Given the description of an element on the screen output the (x, y) to click on. 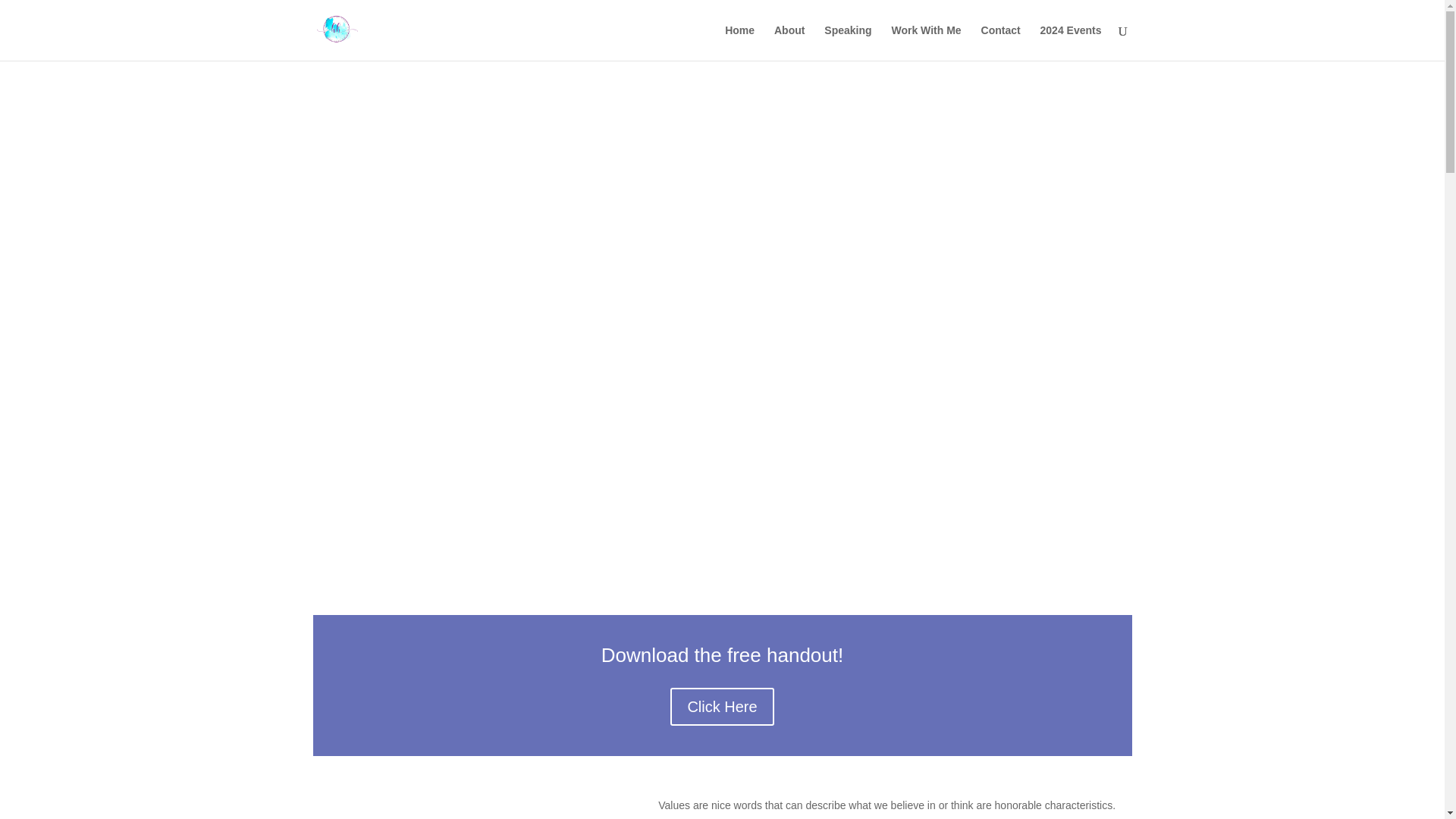
Contact (1000, 42)
Work With Me (925, 42)
2024 Events (1071, 42)
Healthy By Heart Introduction (462, 807)
Speaking (847, 42)
Click Here (721, 706)
